Given the description of an element on the screen output the (x, y) to click on. 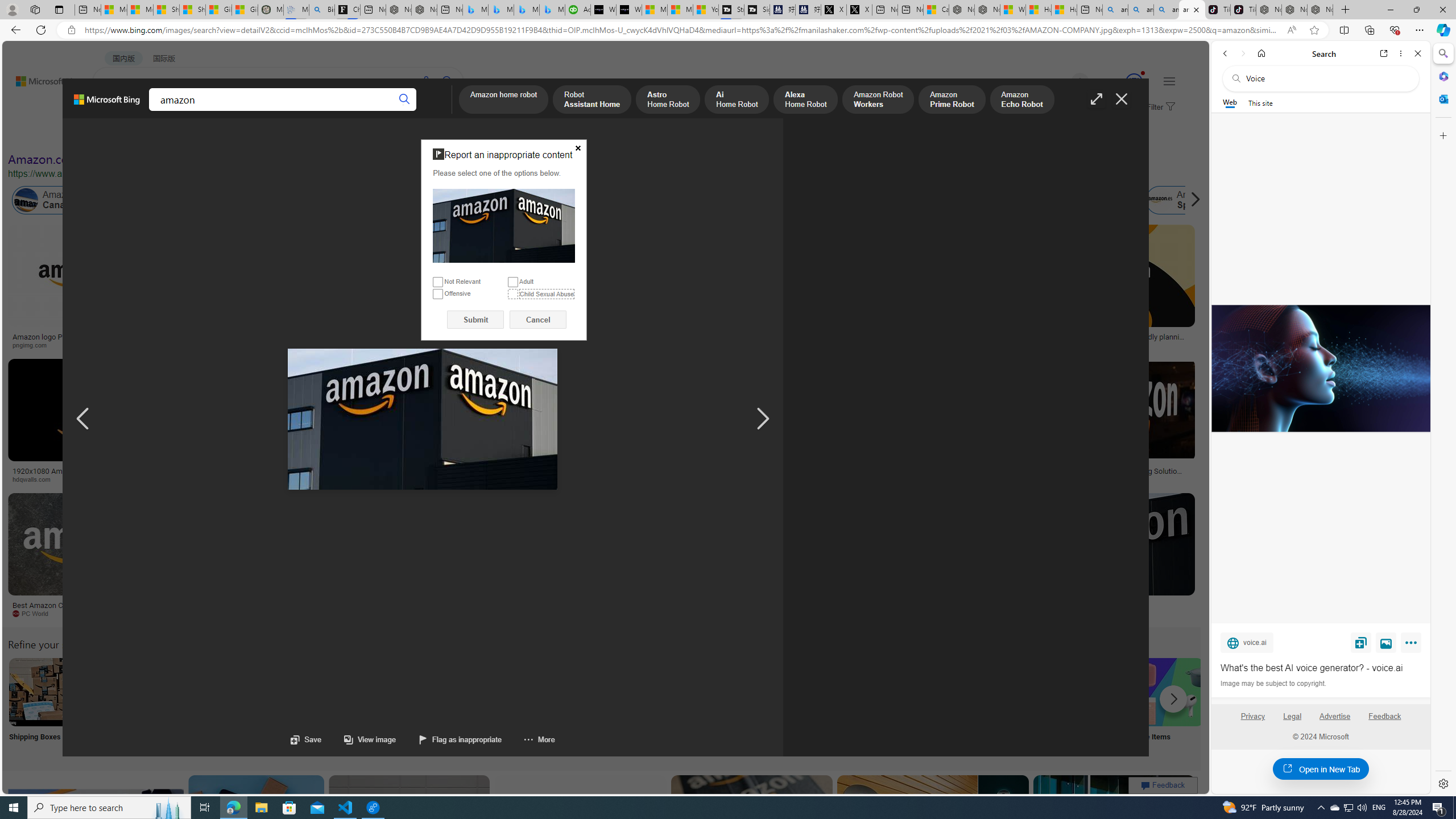
Amazon Package Delivery Package Delivery (418, 706)
Amazon Kids (263, 199)
Online Shopping Homepage (868, 706)
Submit (474, 319)
Amazon Prime Shopping Online (944, 691)
Visa Card Login (1093, 706)
Listen: What's next for Amazon? (403, 336)
Amazon Echo Dot 4th Gen (673, 264)
Marketplace (397, 479)
protothema.gr (1043, 612)
Amazon Shipping Boxes (42, 691)
Manatee Mortality Statistics | FWC (270, 9)
Amazon Animals (401, 200)
